Given the description of an element on the screen output the (x, y) to click on. 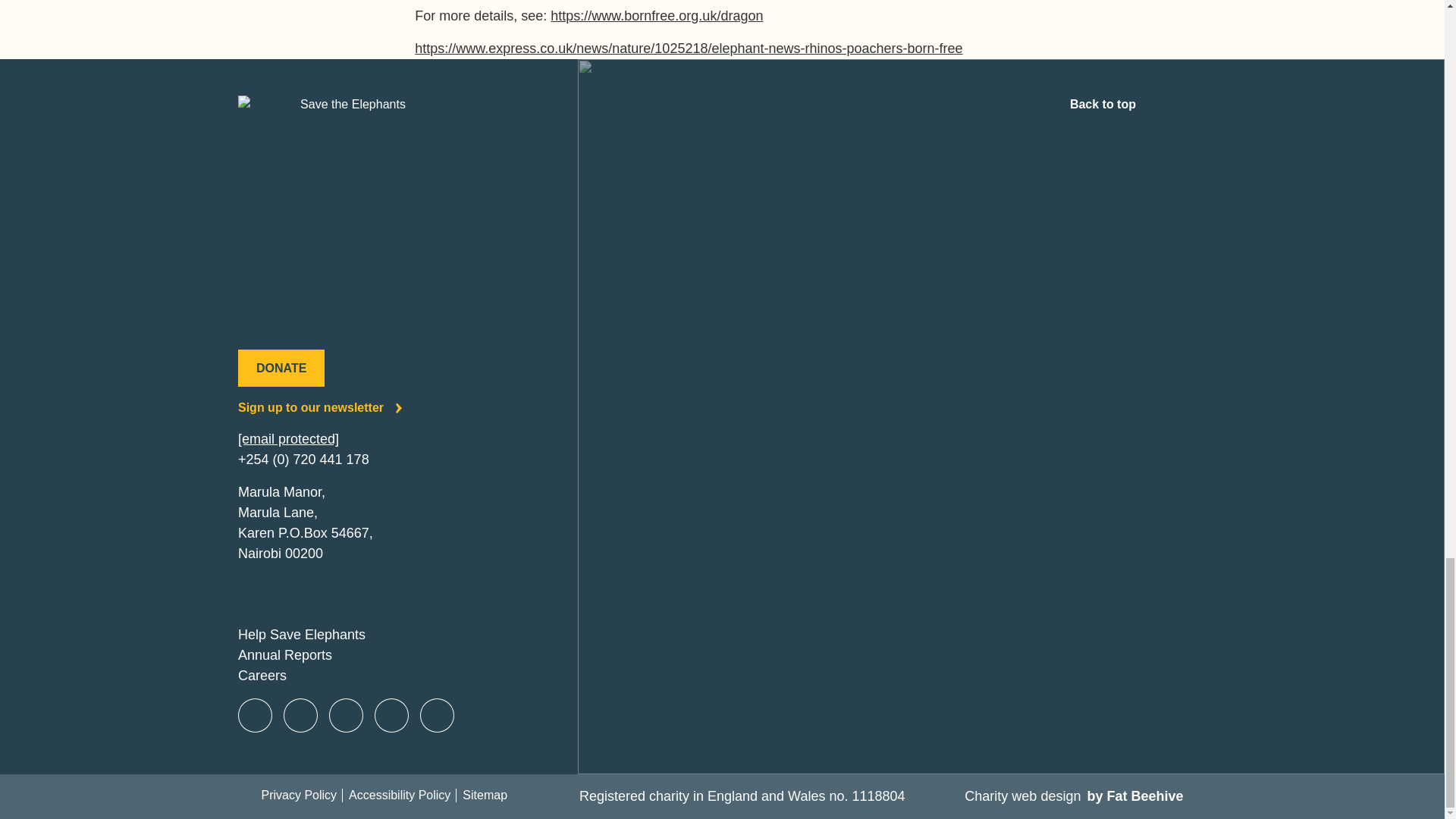
Youtube (391, 715)
Facebook (254, 715)
Twitter (301, 715)
Linkedin (437, 715)
Instagram (346, 715)
